Given the description of an element on the screen output the (x, y) to click on. 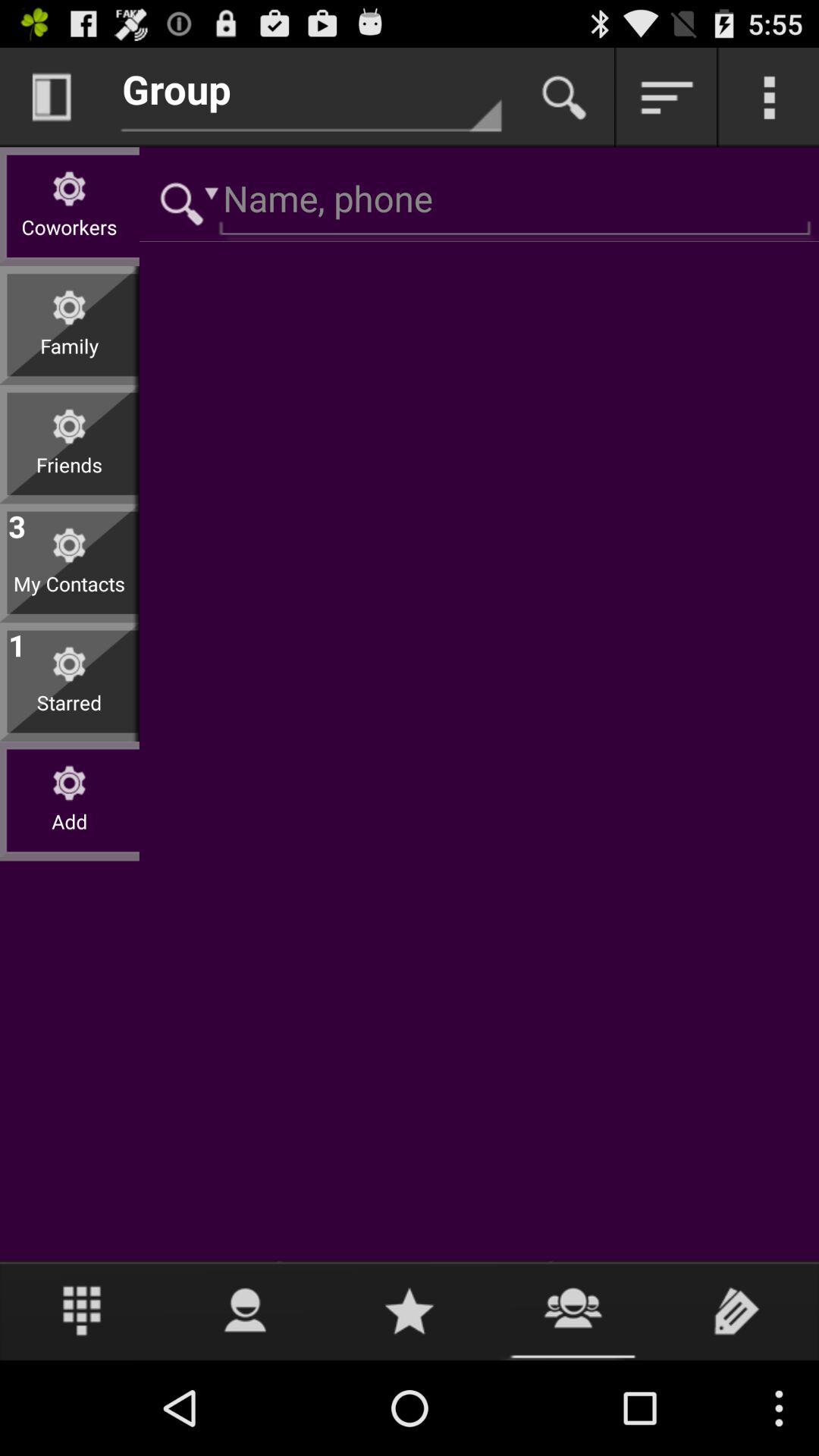
press the 1 item (16, 642)
